Given the description of an element on the screen output the (x, y) to click on. 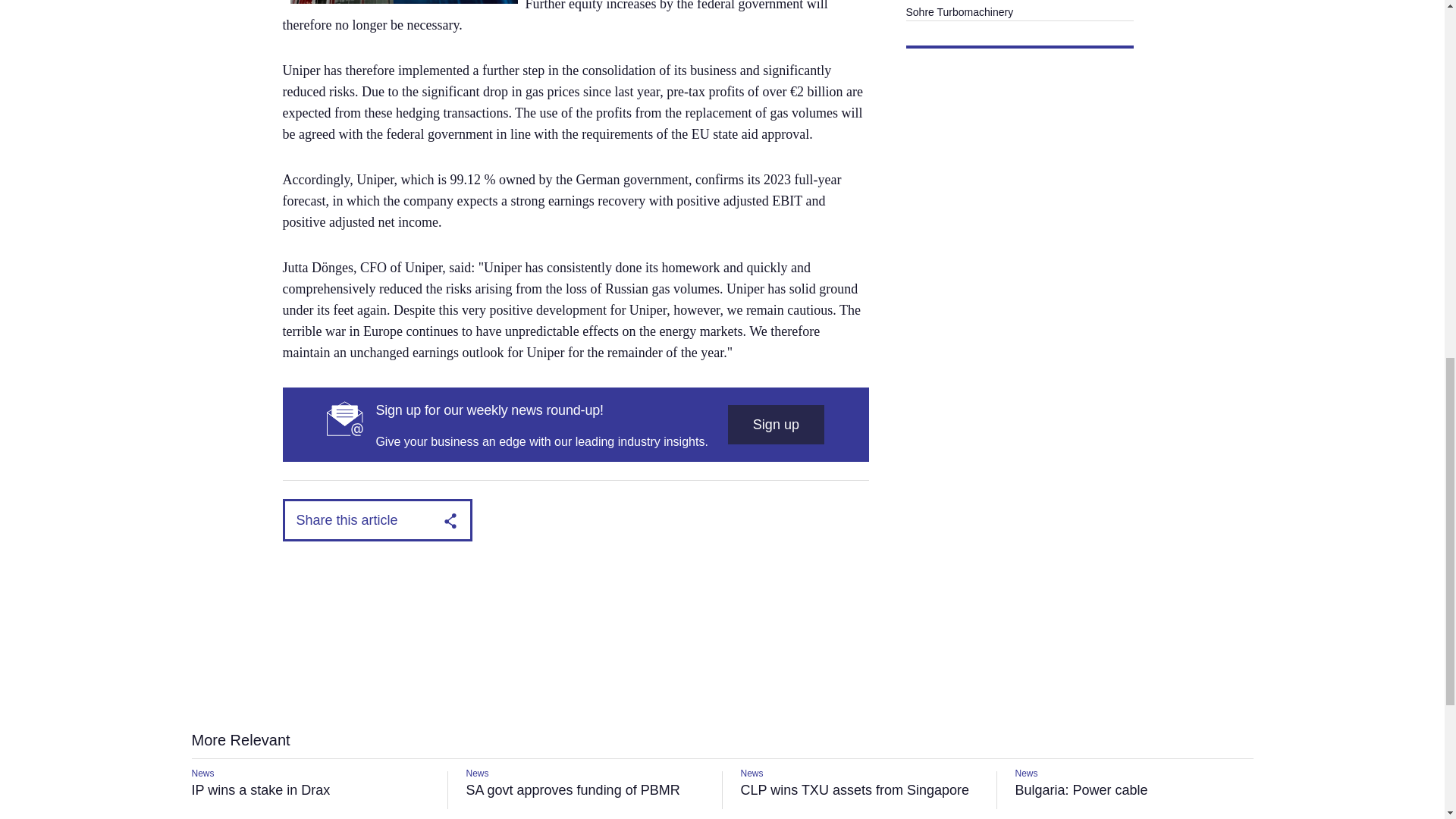
on (473, 315)
